Given the description of an element on the screen output the (x, y) to click on. 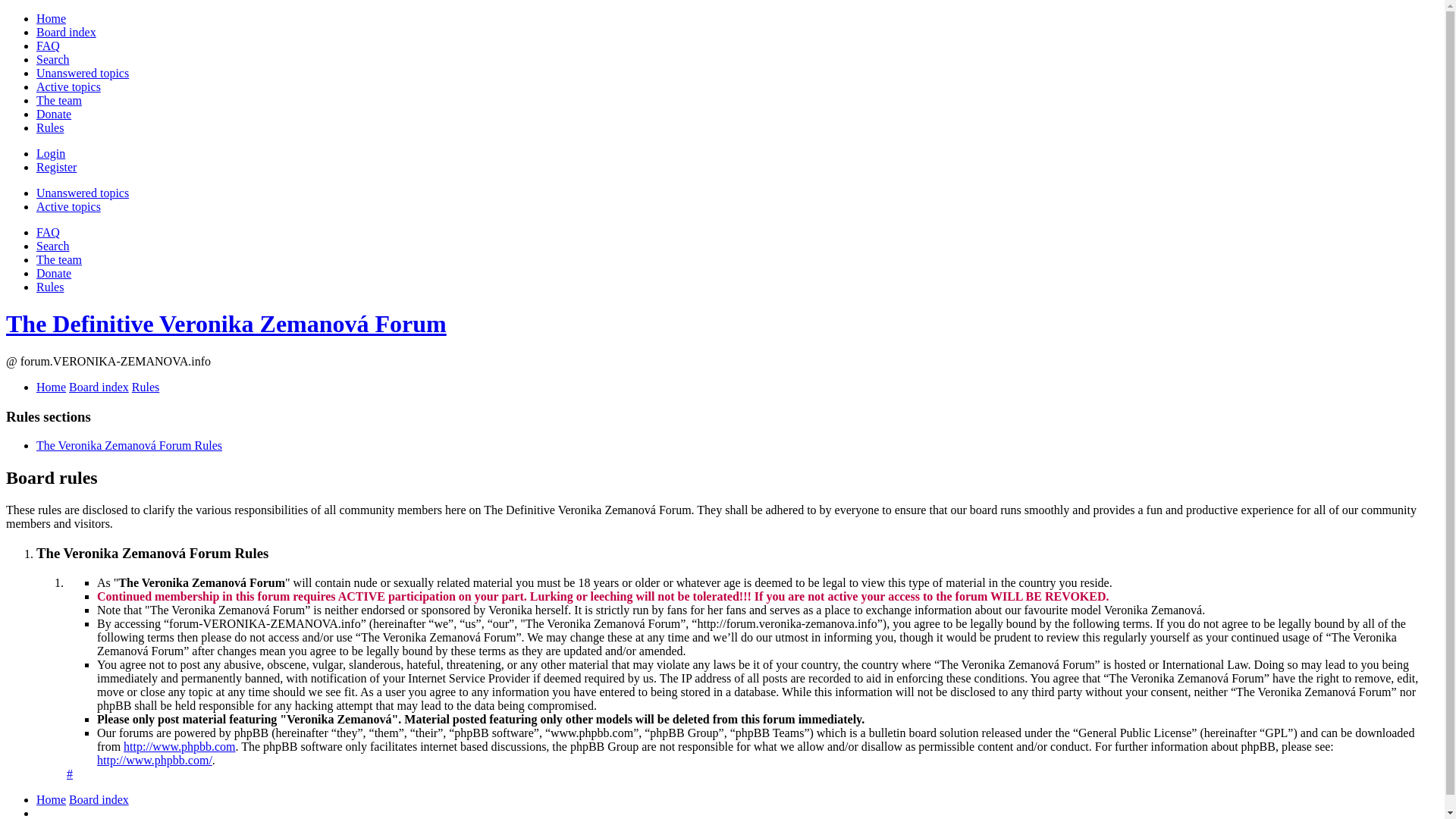
Home (50, 386)
Board index (98, 386)
Donate (53, 273)
Board index (66, 31)
FAQ (47, 45)
Active topics (68, 86)
Frequently Asked Questions (47, 232)
Donate (53, 113)
The team (58, 100)
Rules (50, 286)
Donate (53, 113)
Home (50, 799)
Login (50, 153)
Login (50, 153)
Unanswered topics (82, 192)
